Given the description of an element on the screen output the (x, y) to click on. 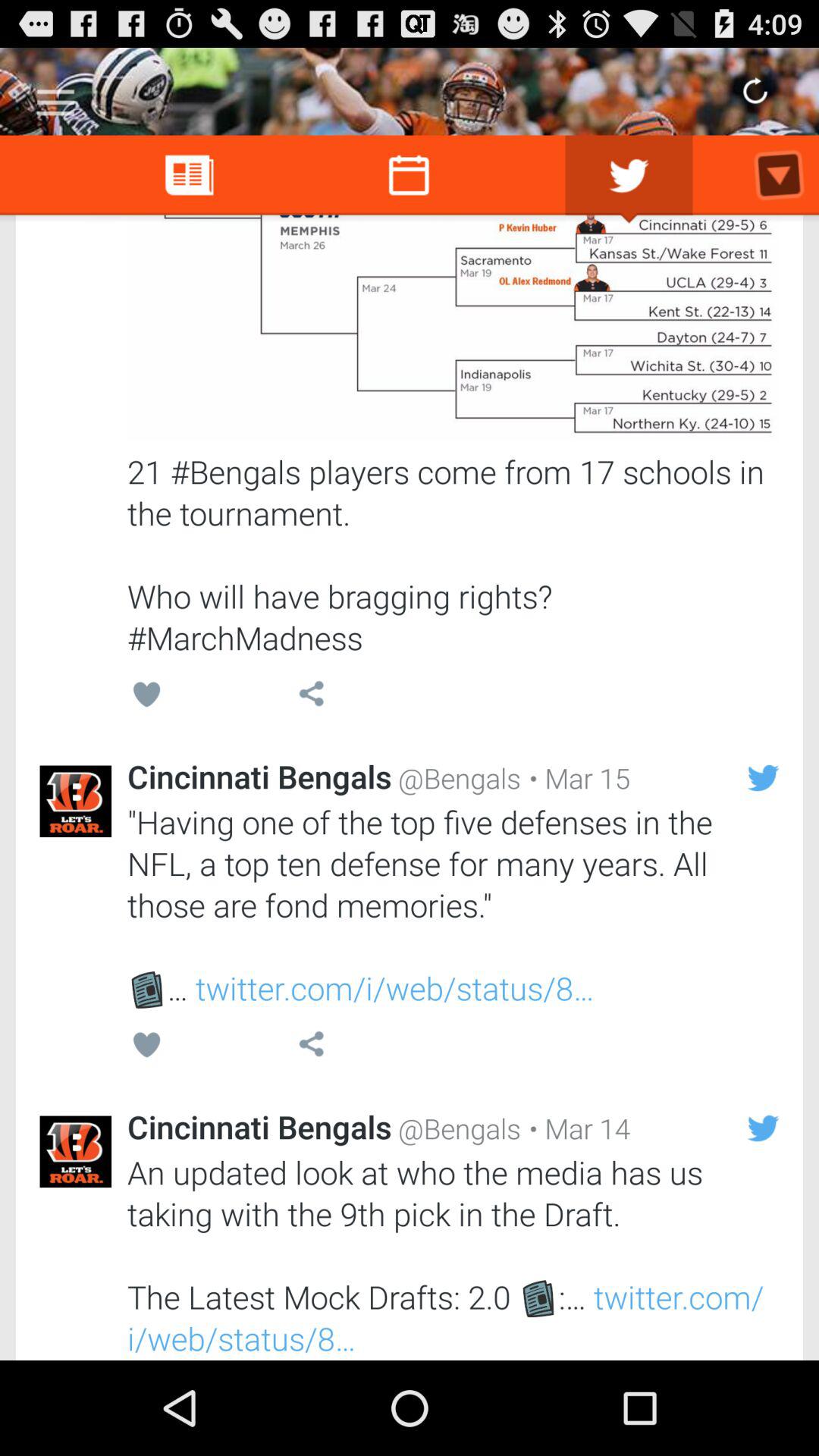
open graphic (453, 327)
